Given the description of an element on the screen output the (x, y) to click on. 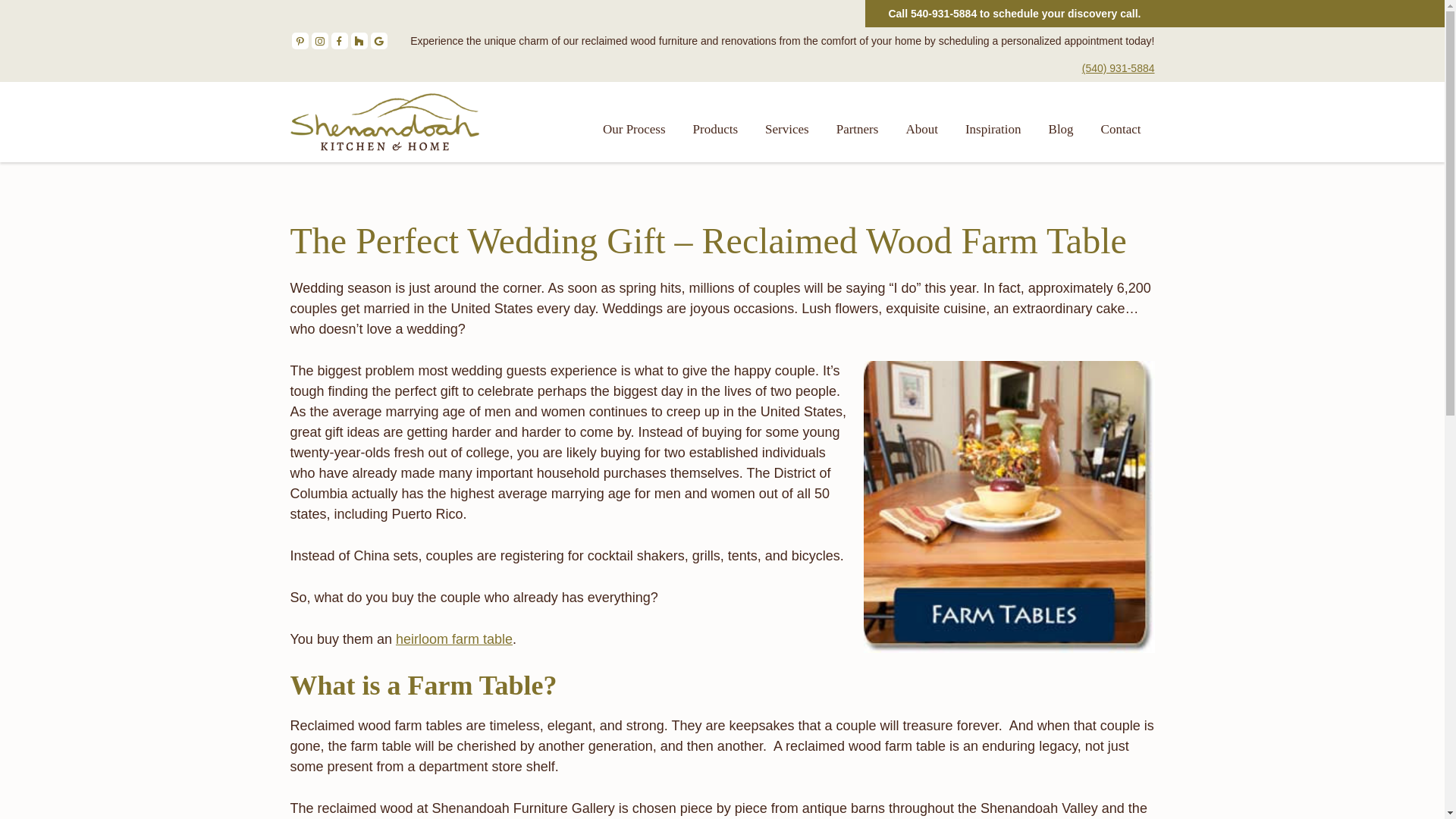
Pinterest (299, 40)
Products (715, 128)
Our Process (634, 128)
Houzz (358, 40)
Instagram (319, 40)
Services (786, 128)
Facebook (338, 40)
Google (378, 40)
